Given the description of an element on the screen output the (x, y) to click on. 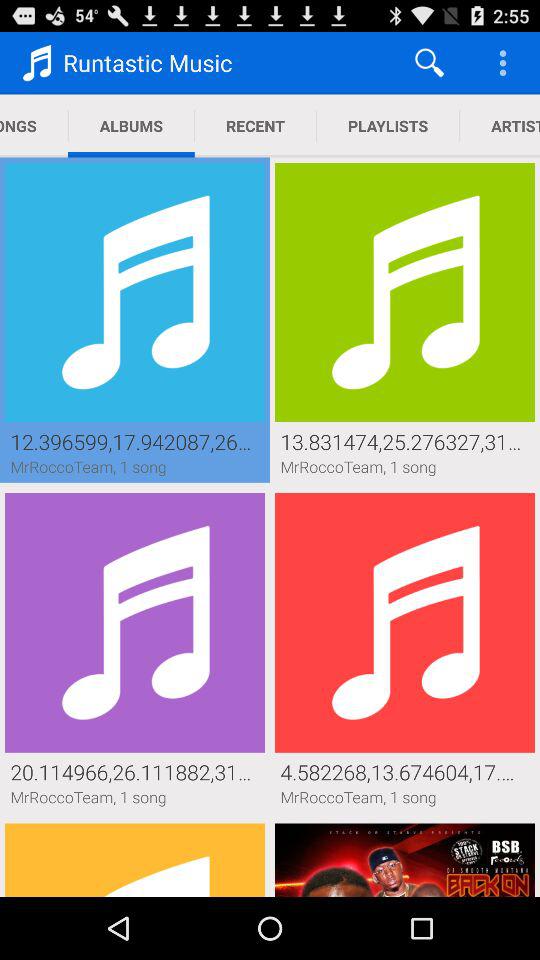
turn off the app to the right of recent app (429, 62)
